Given the description of an element on the screen output the (x, y) to click on. 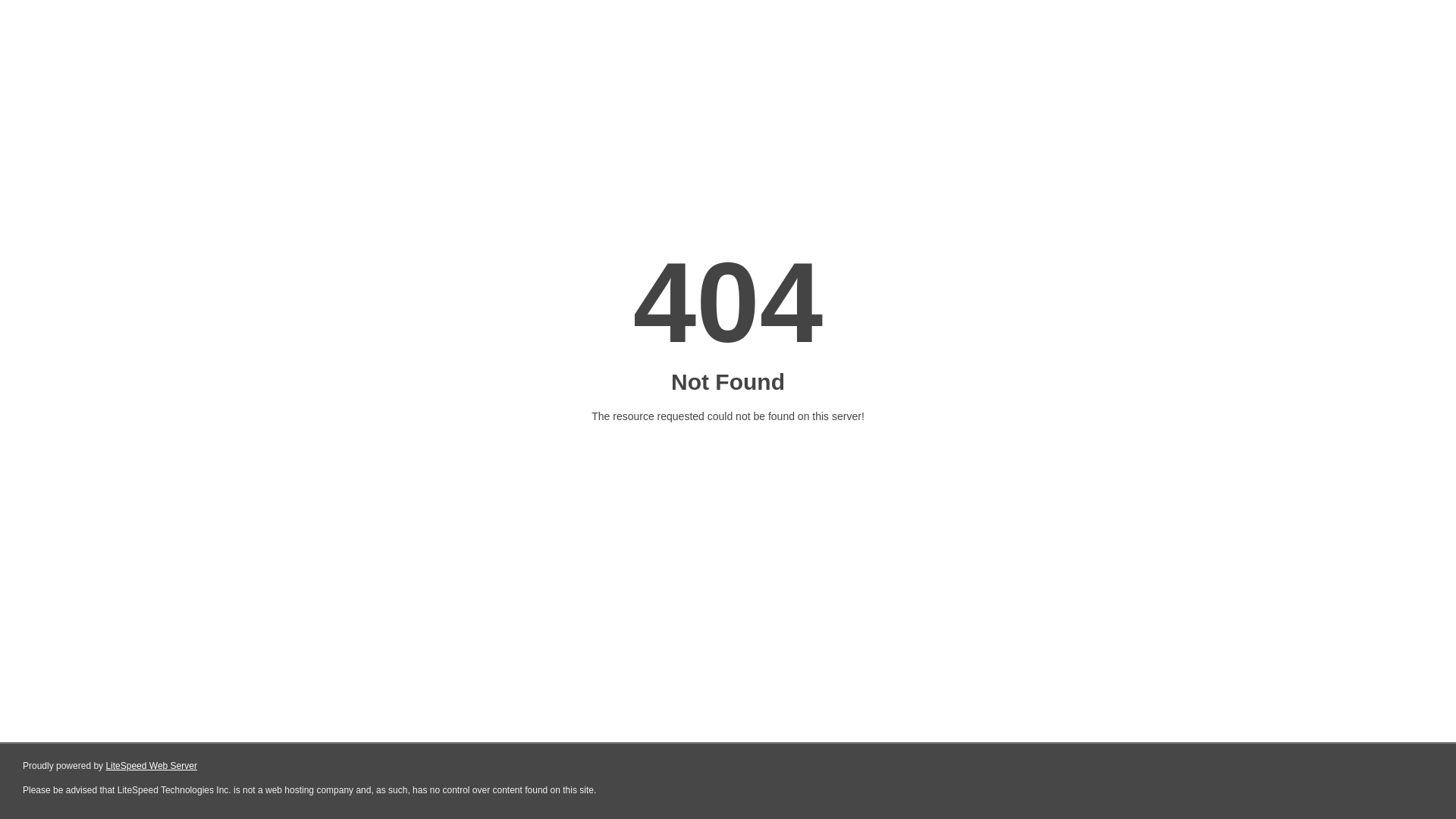
LiteSpeed Web Server Element type: text (151, 765)
